Given the description of an element on the screen output the (x, y) to click on. 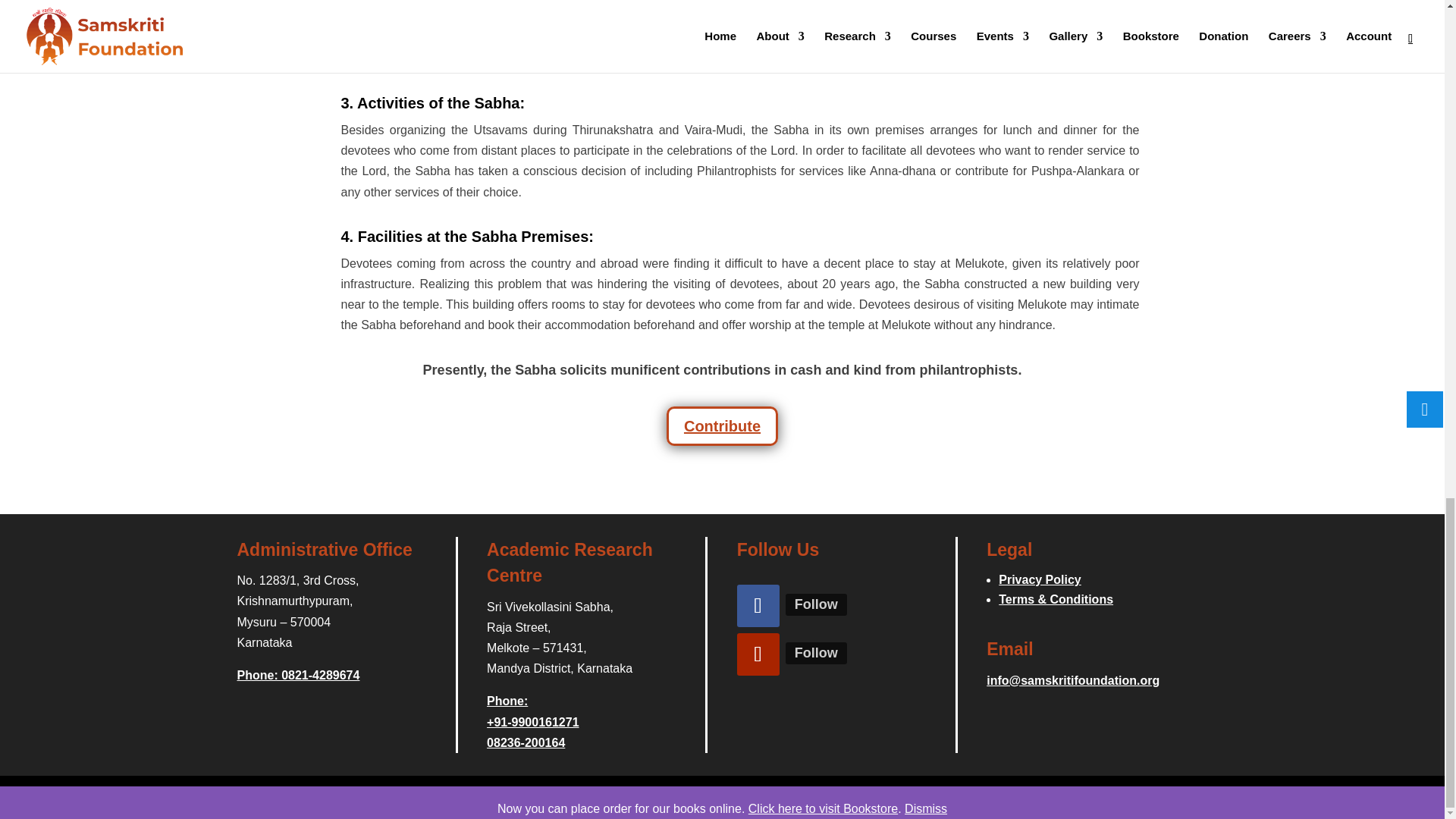
Web Designing Services, Bengaluru (694, 797)
Youtube (816, 653)
Facebook (816, 604)
Follow on Youtube (757, 654)
Follow on Facebook (757, 605)
